Given the description of an element on the screen output the (x, y) to click on. 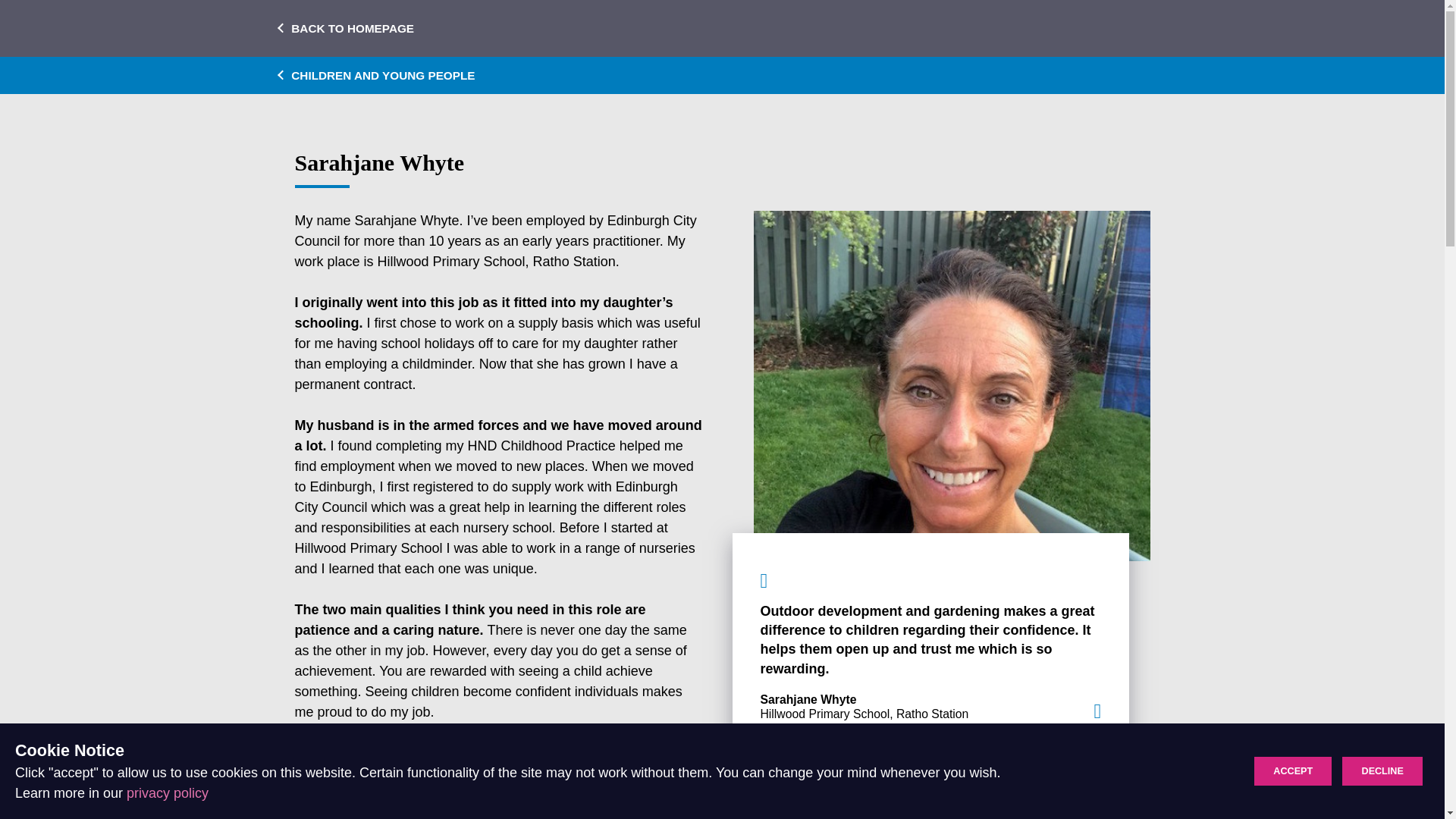
Go back to top (1411, 785)
ACCEPT (1292, 770)
DECLINE (1382, 770)
privacy policy (167, 792)
Feedback (1332, 785)
Give feedback (1332, 785)
Modify your cookie preferances (1222, 785)
Cookies (1222, 785)
